Given the description of an element on the screen output the (x, y) to click on. 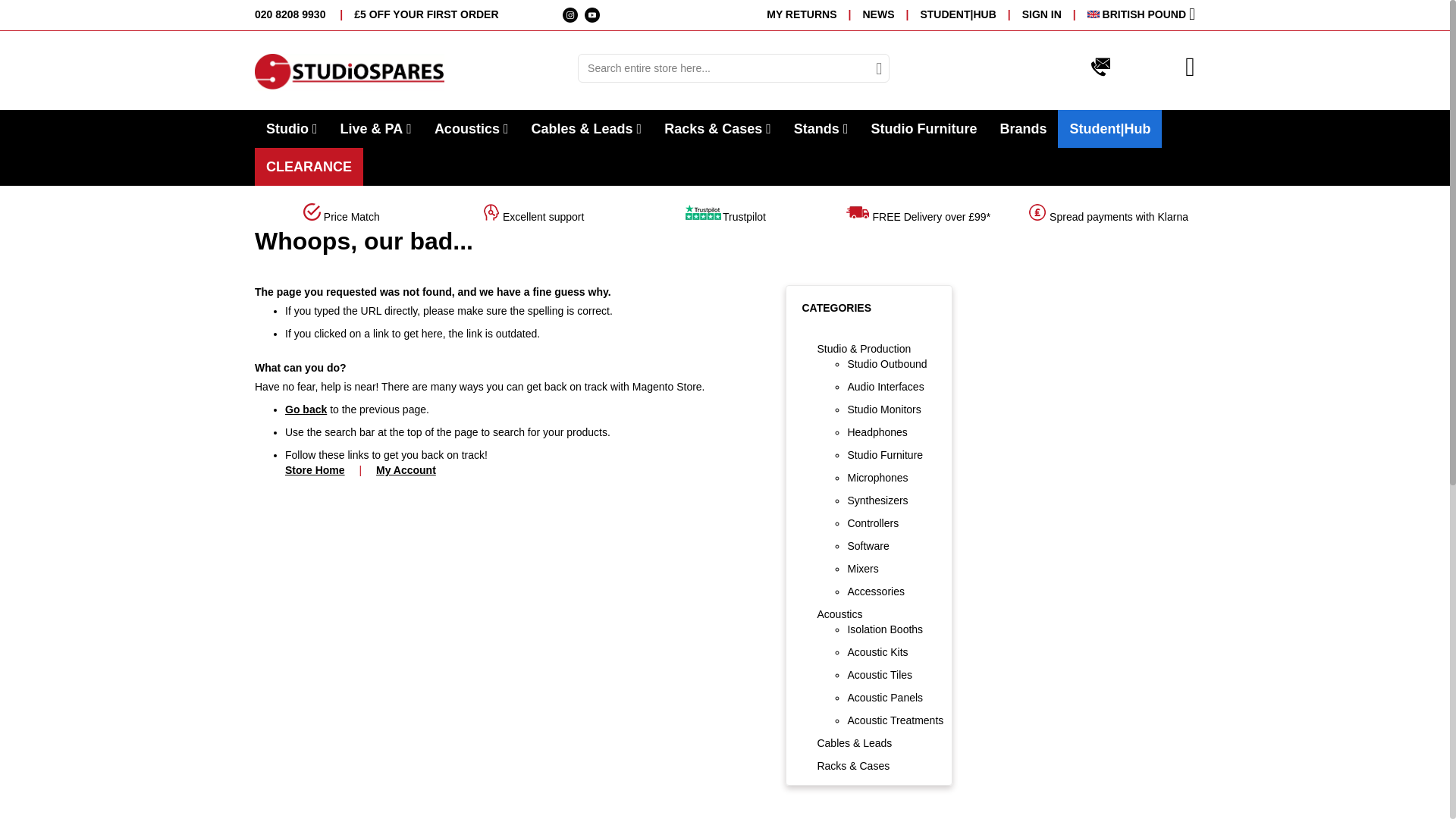
MY RETURNS (814, 14)
Studio (291, 128)
Studiospares (349, 72)
NEWS (890, 14)
SIGN IN (1054, 14)
Studiospares (410, 72)
020 8208 9930 (289, 14)
